Given the description of an element on the screen output the (x, y) to click on. 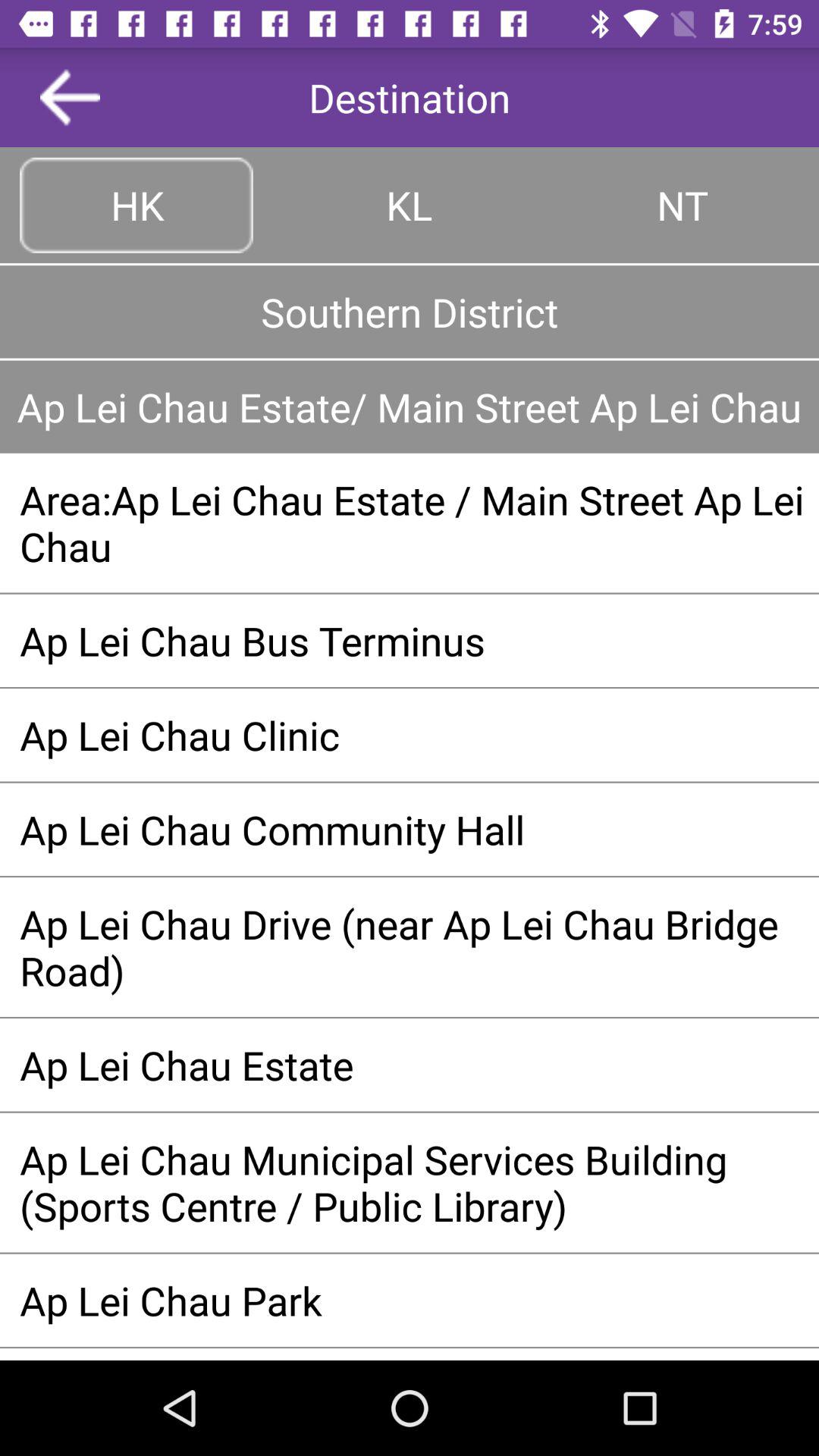
launch icon to the left of kl item (136, 205)
